Given the description of an element on the screen output the (x, y) to click on. 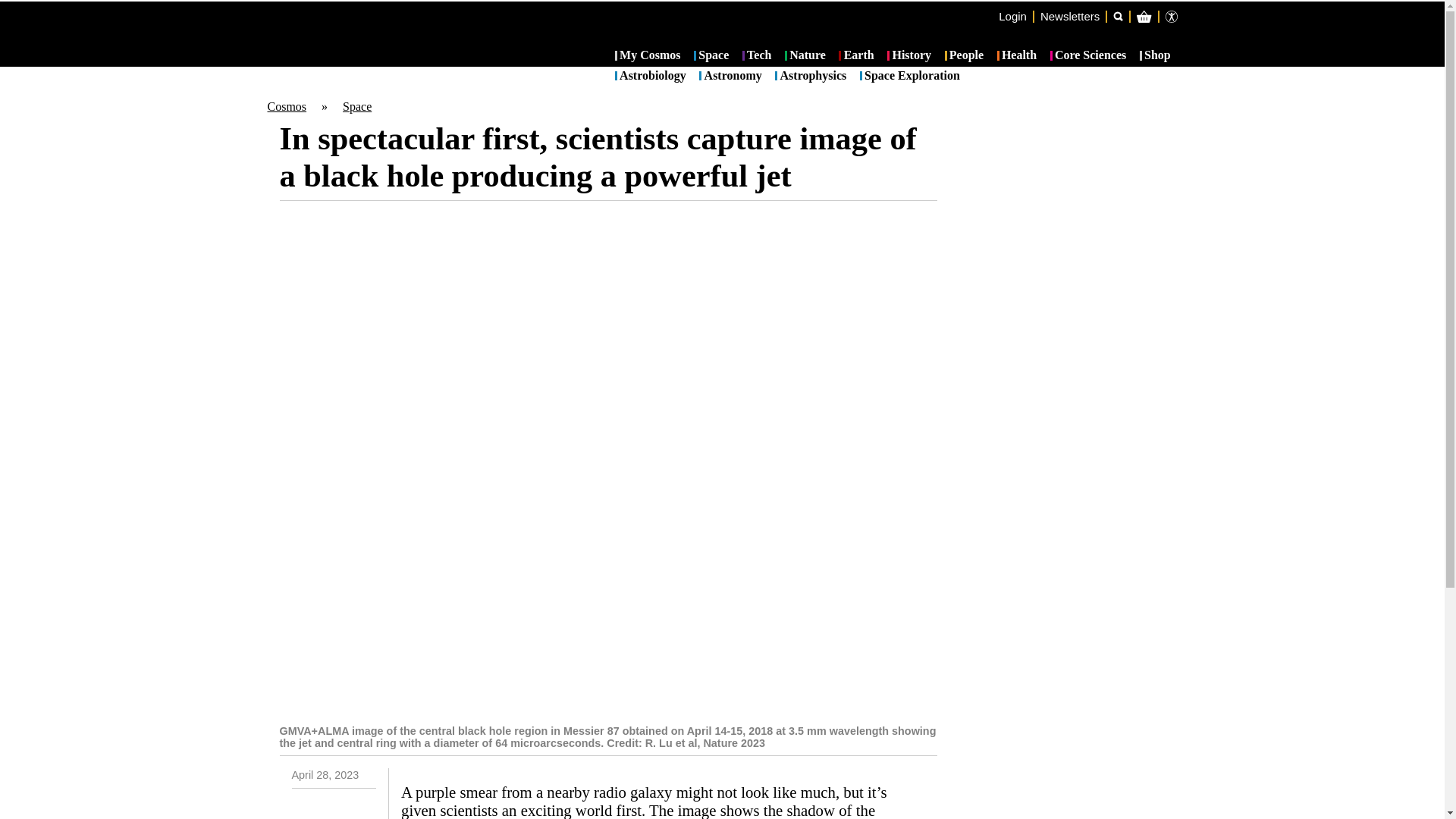
Shop (1155, 55)
Astrophysics (809, 76)
Cart (1227, 77)
Astrobiology (649, 76)
People (964, 55)
Earth (855, 55)
My Cosmos (647, 55)
Cosmos (285, 106)
History (908, 55)
Space (356, 106)
